Given the description of an element on the screen output the (x, y) to click on. 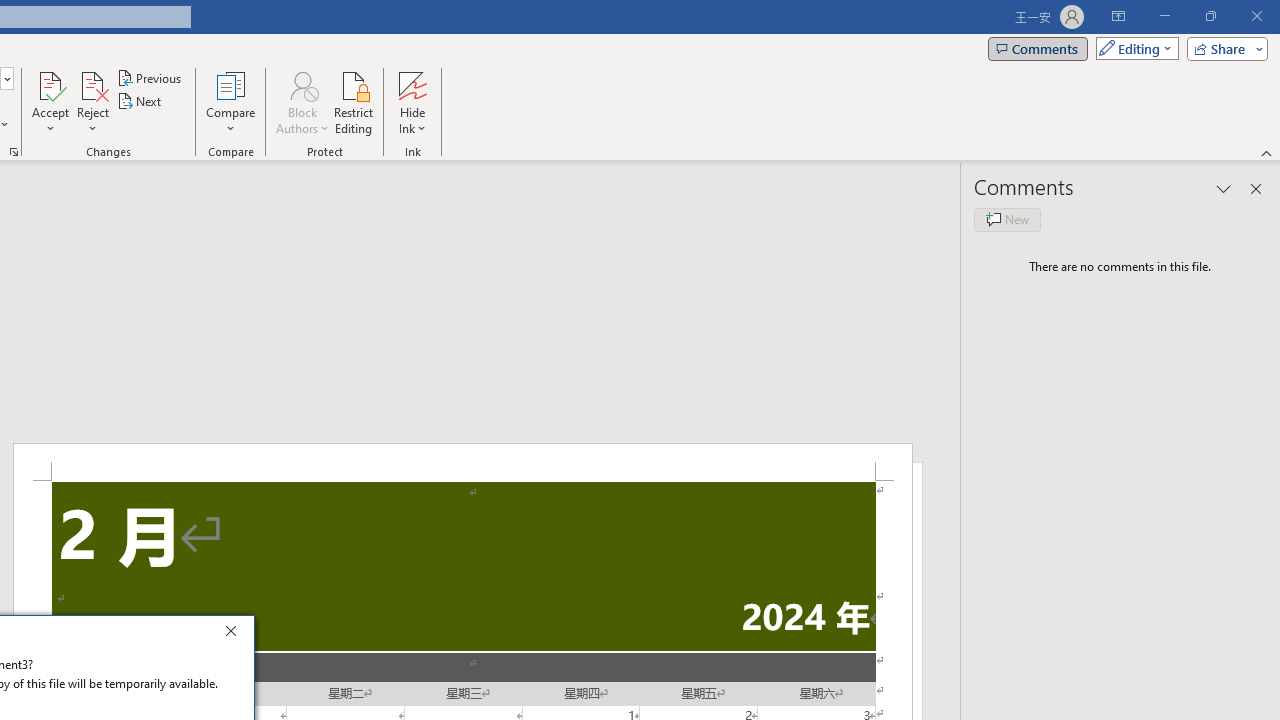
New comment (1007, 219)
Next (140, 101)
Change Tracking Options... (13, 151)
Previous (150, 78)
Restrict Editing (353, 102)
Compare (230, 102)
Block Authors (302, 102)
